Given the description of an element on the screen output the (x, y) to click on. 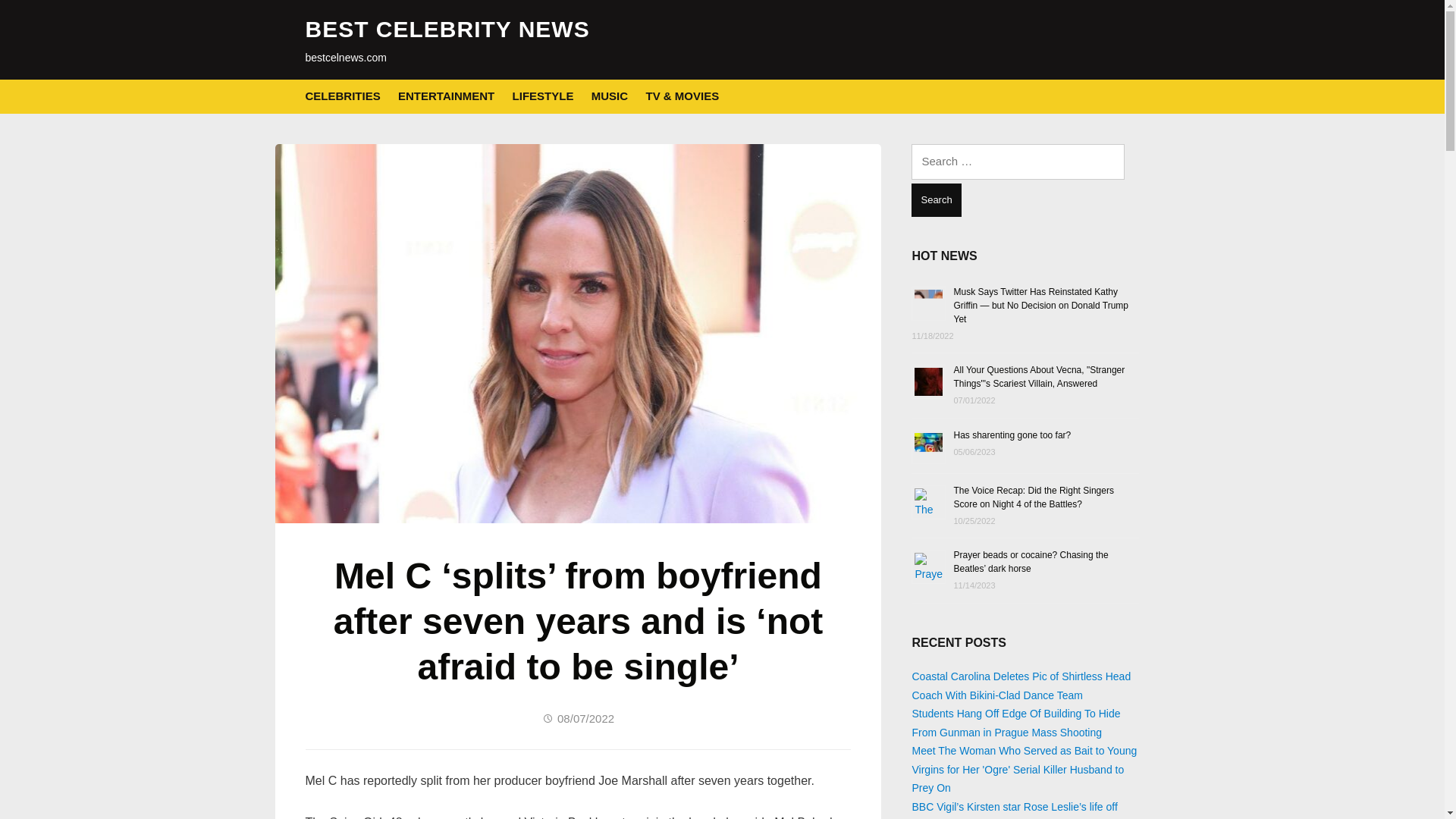
ENTERTAINMENT (446, 96)
CELEBRITIES (342, 96)
Has sharenting gone too far? (1011, 434)
MUSIC (609, 96)
BEST CELEBRITY NEWS (446, 28)
Search (935, 200)
LIFESTYLE (542, 96)
Search (935, 200)
Search (935, 200)
